Given the description of an element on the screen output the (x, y) to click on. 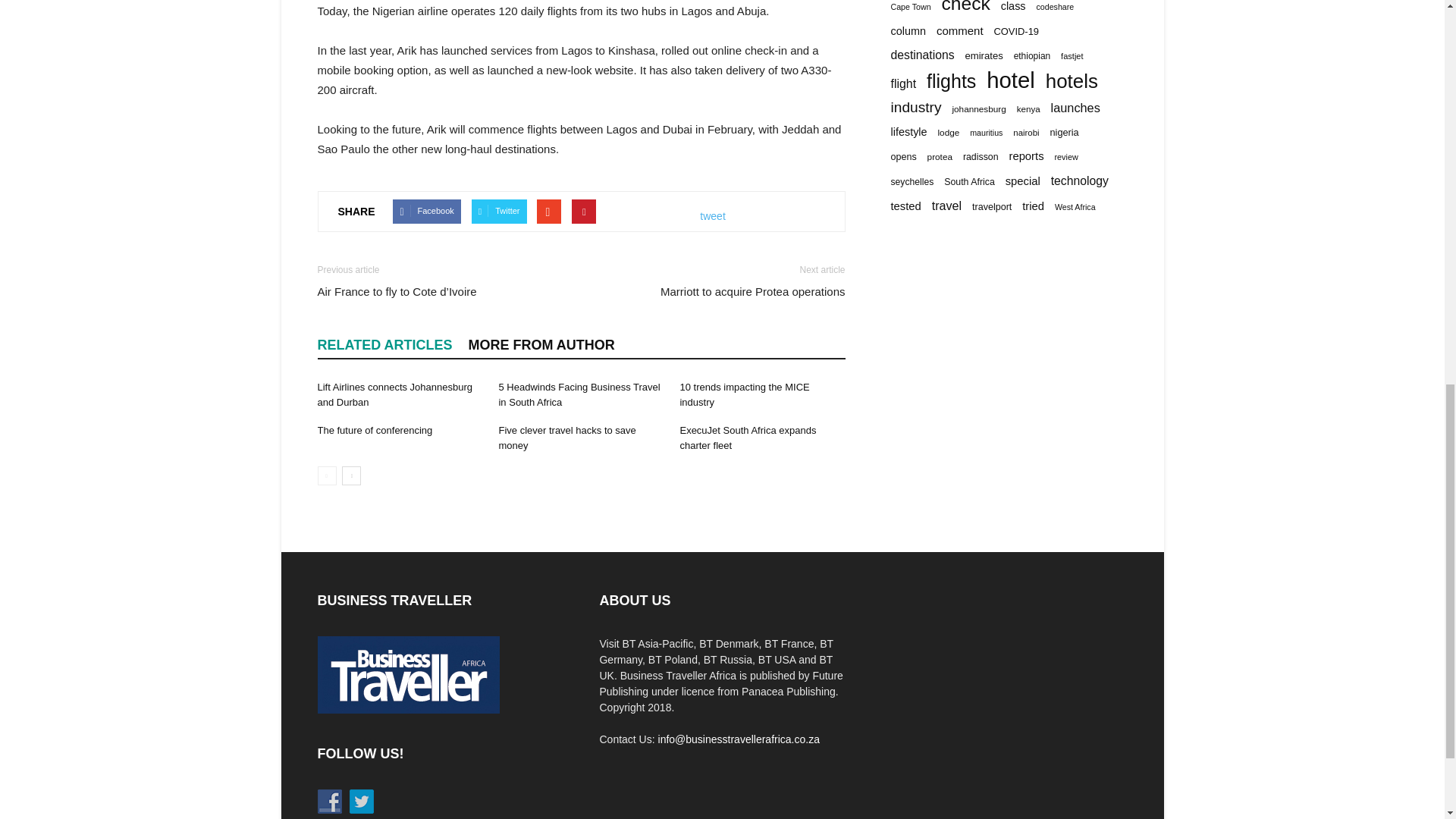
ExecuJet South Africa expands charter fleet (747, 438)
Lift Airlines connects Johannesburg and Durban (394, 394)
The future of conferencing (374, 430)
10 trends impacting the MICE industry (744, 394)
Follow Us: Facebook (328, 801)
Five clever travel hacks to save money (565, 438)
5 Headwinds Facing Business Travel in South Africa (578, 394)
